Given the description of an element on the screen output the (x, y) to click on. 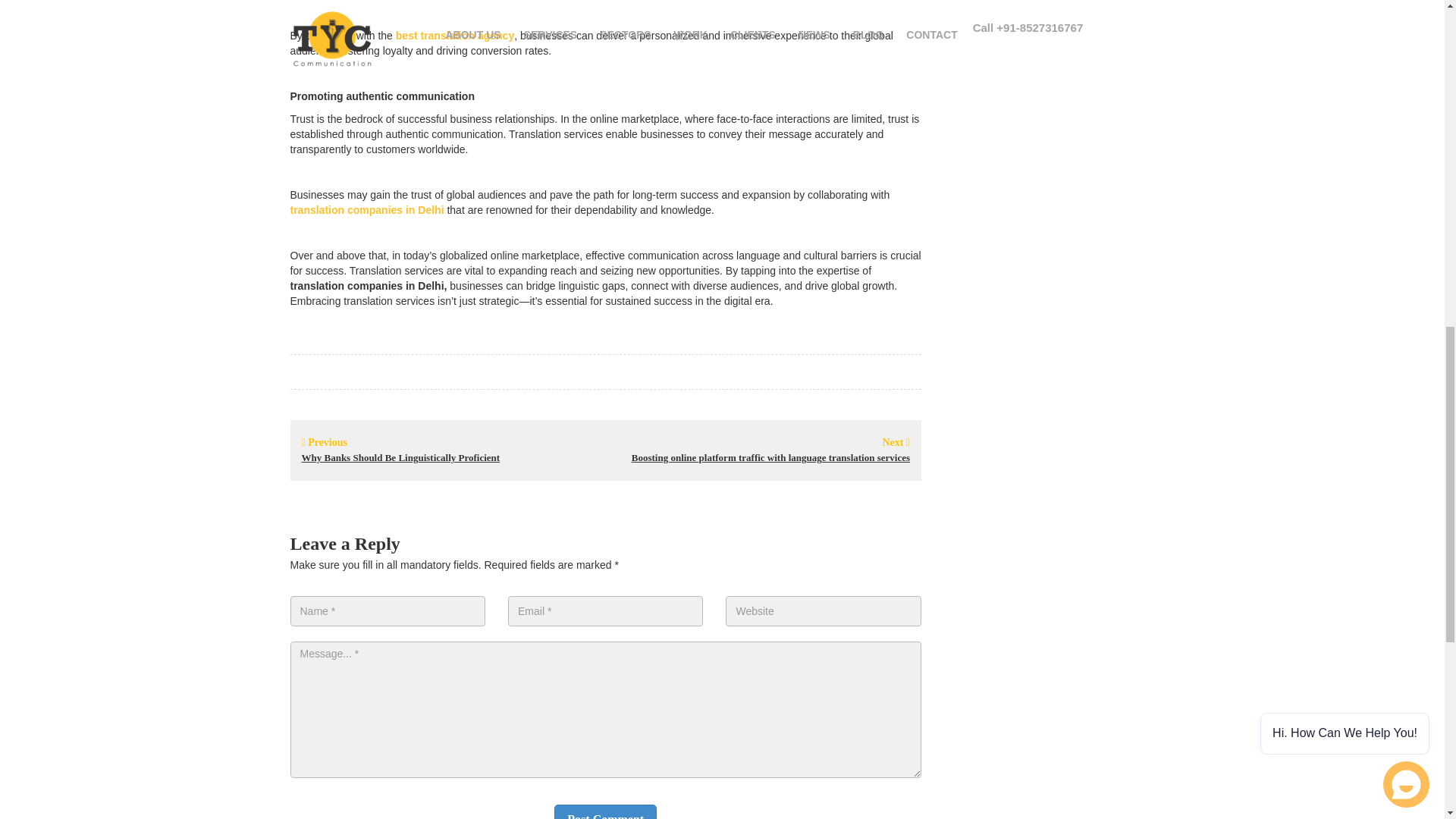
Post Comment (605, 811)
translation companies in Delhi (366, 209)
Why Banks Should Be Linguistically Proficient (400, 457)
best translation agency (454, 35)
